Given the description of an element on the screen output the (x, y) to click on. 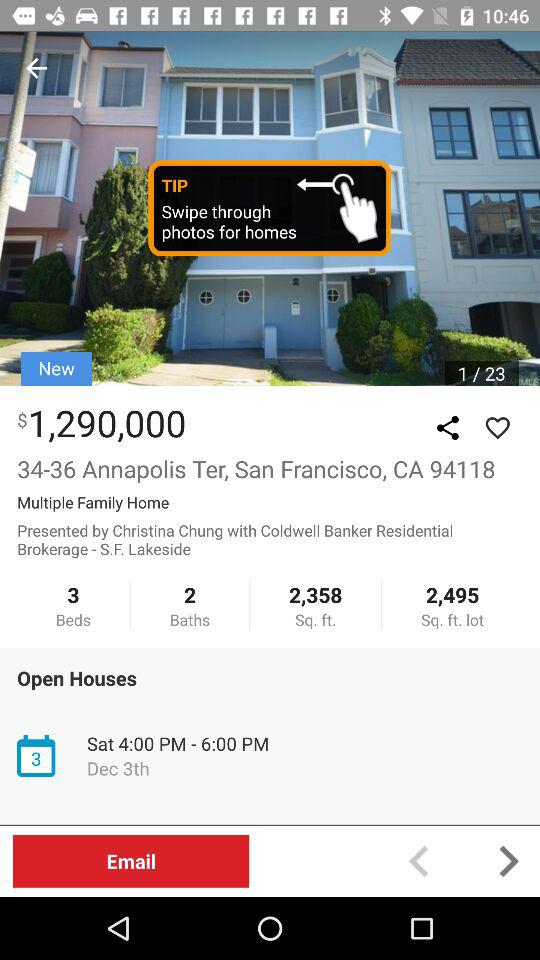
go back (36, 68)
